Given the description of an element on the screen output the (x, y) to click on. 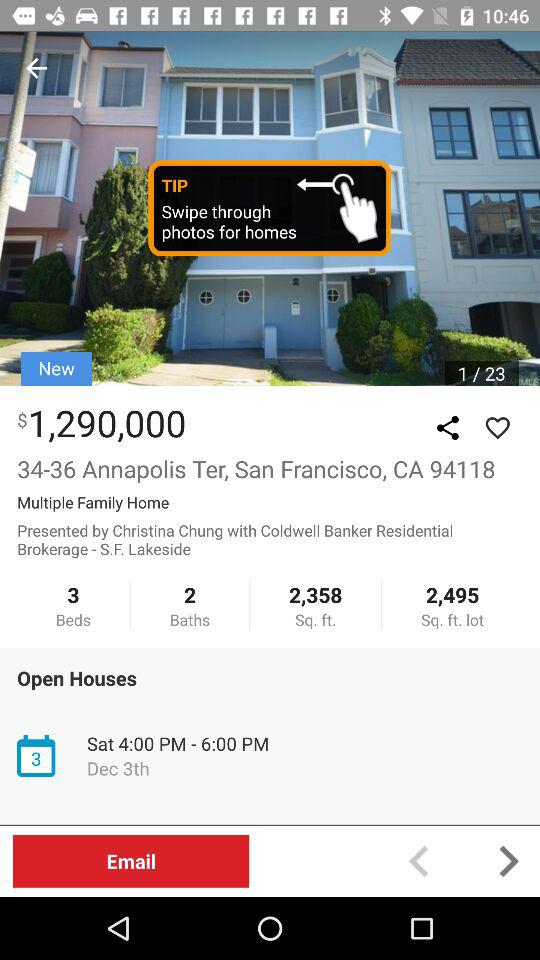
go back (36, 68)
